Given the description of an element on the screen output the (x, y) to click on. 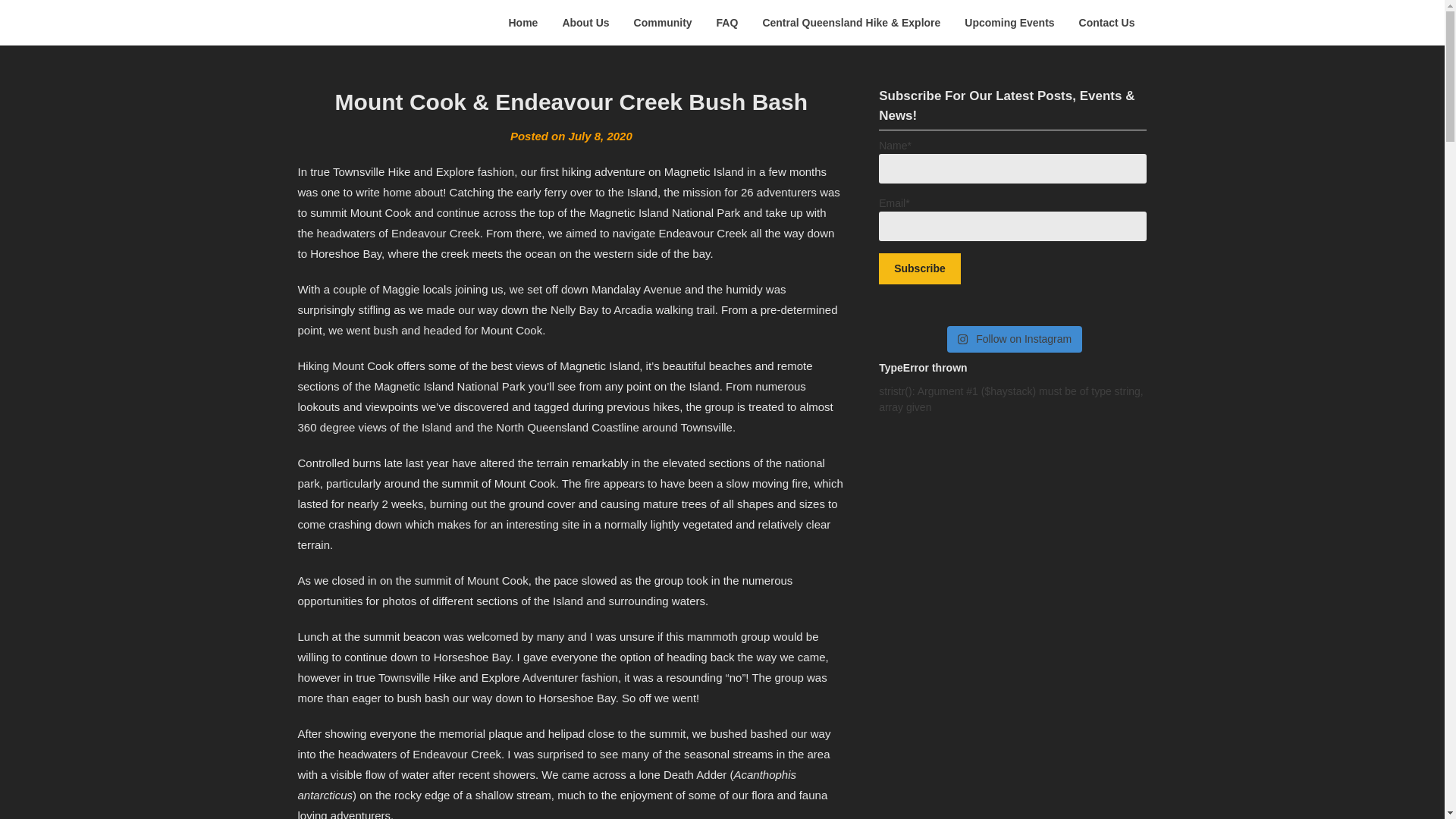
Community (662, 22)
Subscribe (919, 268)
July 8, 2020 (600, 135)
Upcoming Events (1008, 22)
Home (523, 22)
About Us (585, 22)
FAQ (727, 22)
Follow on Instagram (1014, 338)
Subscribe (919, 268)
Contact Us (1107, 22)
